Given the description of an element on the screen output the (x, y) to click on. 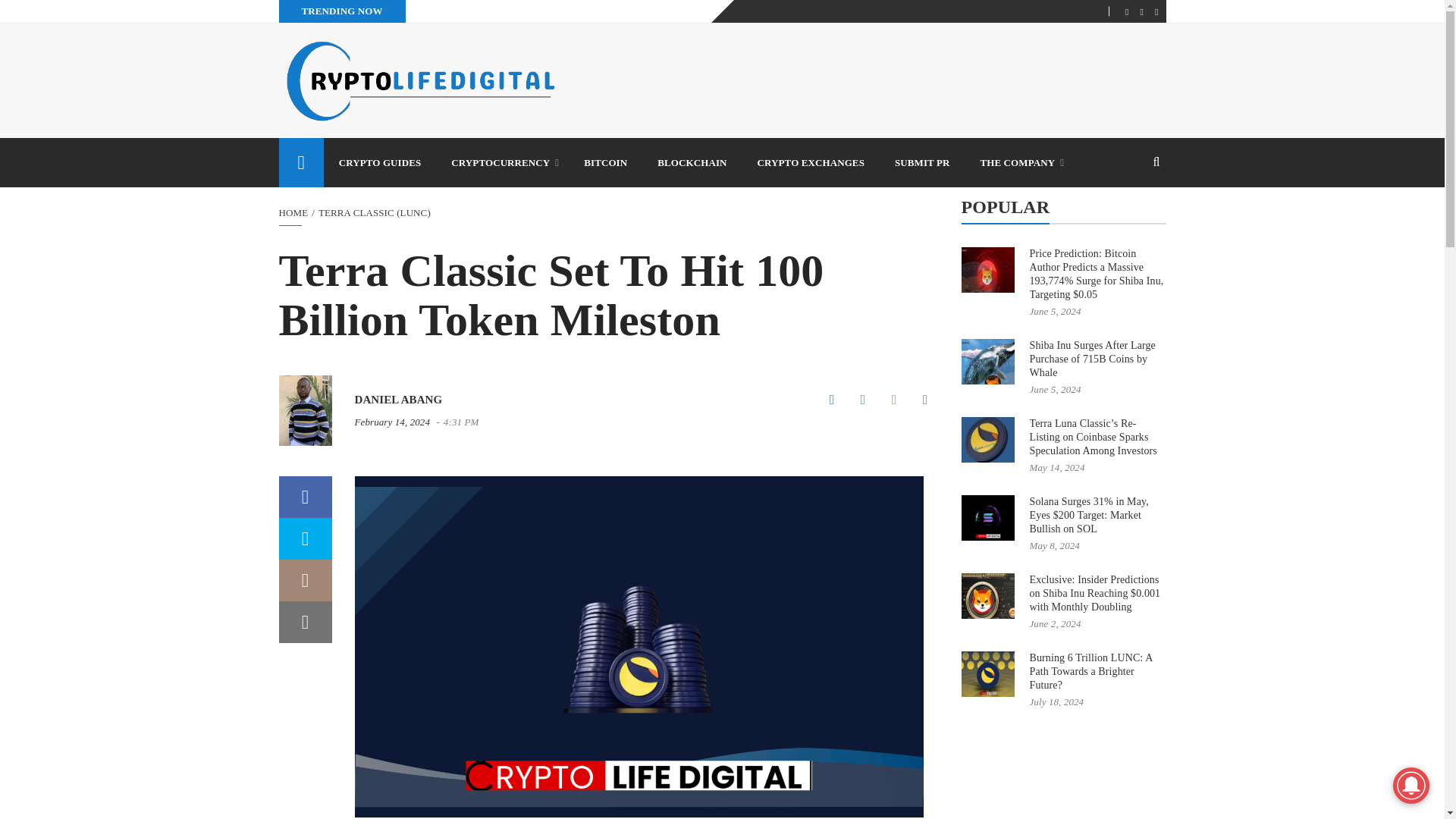
Facebook (831, 399)
Home (301, 162)
Home (293, 212)
Twitter (862, 399)
Comment (893, 399)
